Given the description of an element on the screen output the (x, y) to click on. 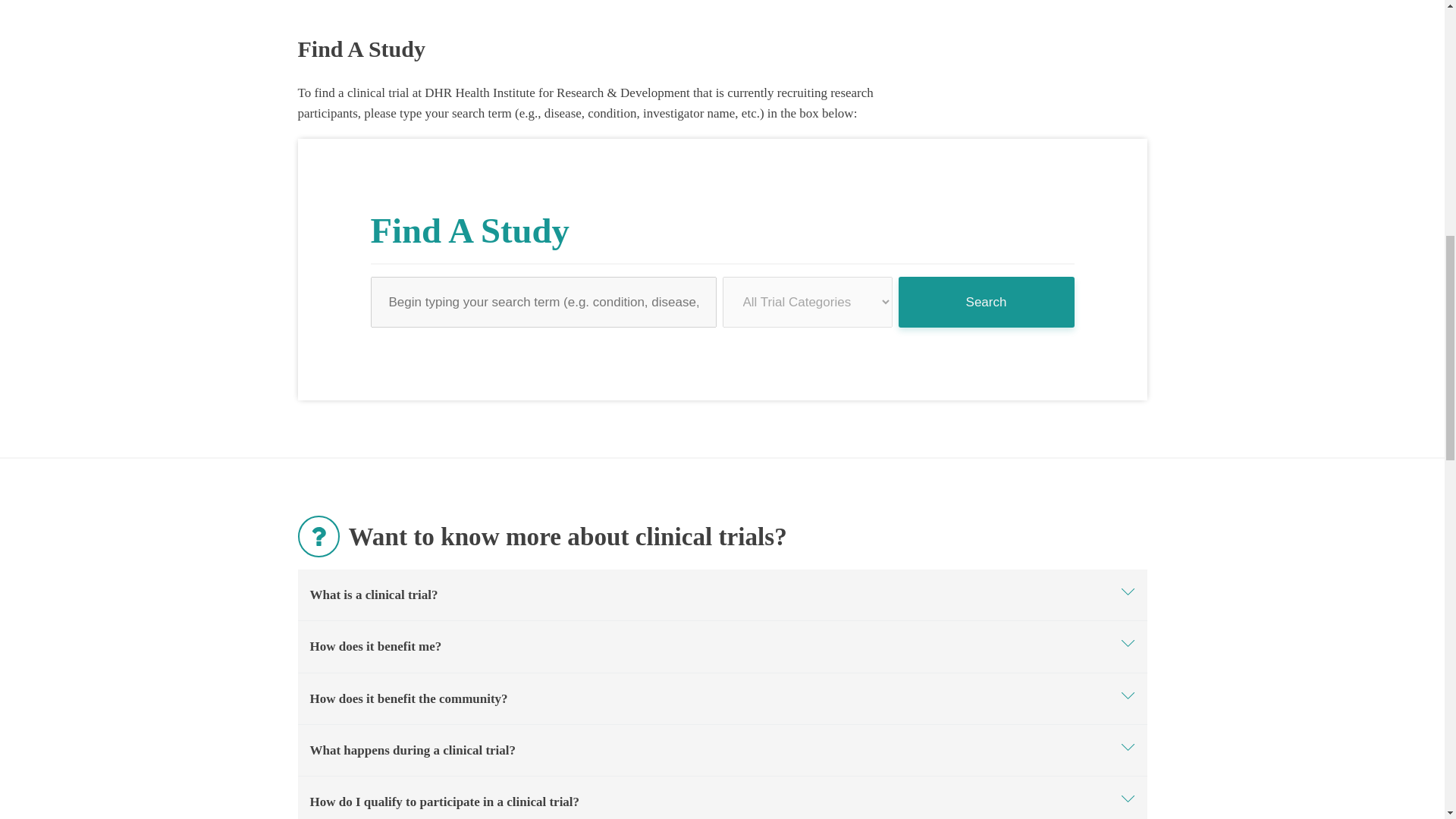
Search (986, 302)
